Given the description of an element on the screen output the (x, y) to click on. 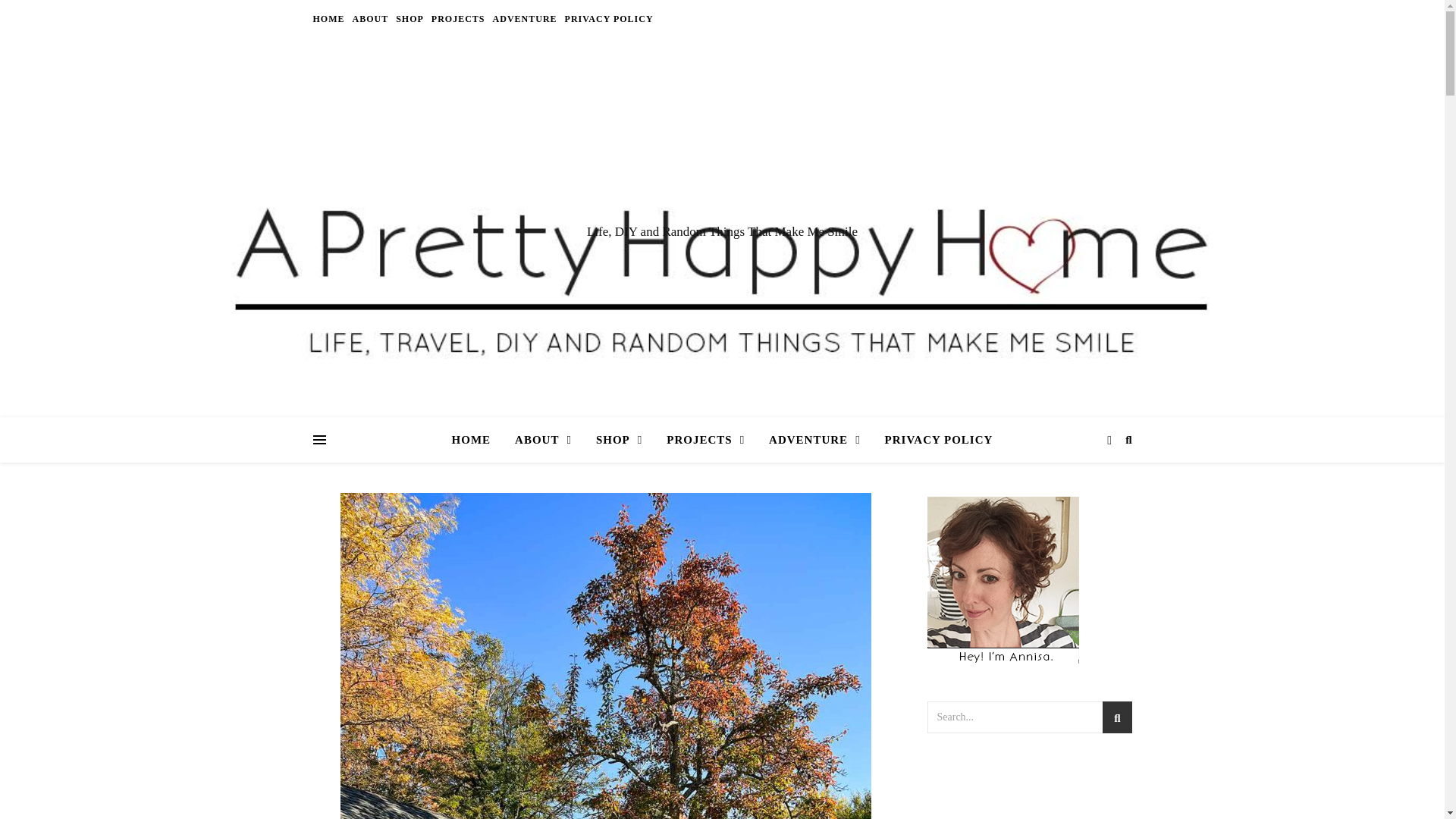
ABOUT (371, 18)
SHOP (618, 439)
ADVENTURE (524, 18)
PROJECTS (458, 18)
SHOP (409, 18)
HOME (330, 18)
ABOUT (542, 439)
HOME (477, 439)
PRIVACY POLICY (606, 18)
Annisa Welcome Circle (1002, 579)
